Given the description of an element on the screen output the (x, y) to click on. 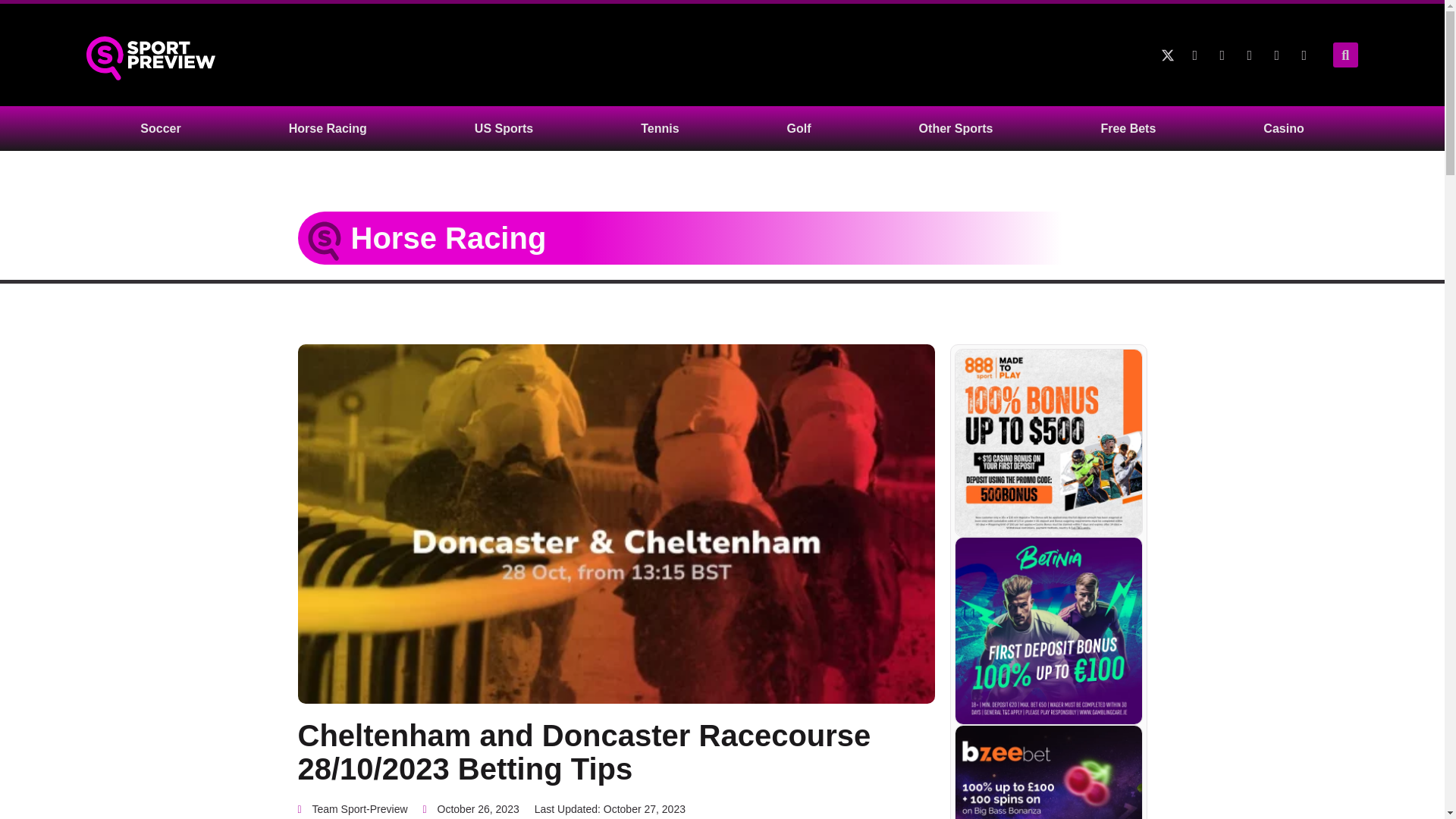
Soccer (159, 128)
Tennis (659, 128)
Other Sports (955, 128)
Casino (1282, 128)
Free Bets (1127, 128)
US Sports (503, 128)
Golf (798, 128)
Team Sport-Preview (352, 809)
Horse Racing (448, 237)
Horse Racing (327, 128)
